Given the description of an element on the screen output the (x, y) to click on. 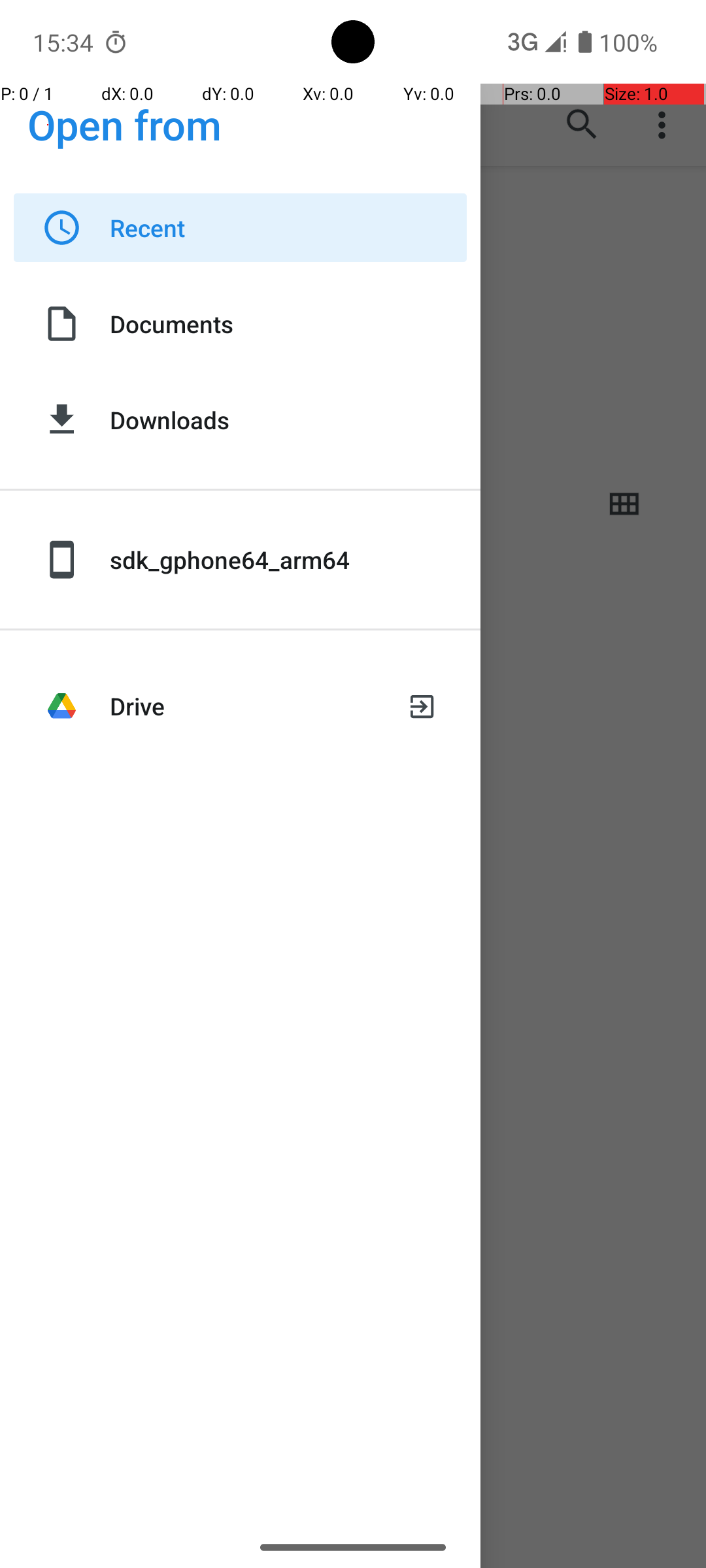
Open from Element type: android.widget.TextView (124, 124)
